Given the description of an element on the screen output the (x, y) to click on. 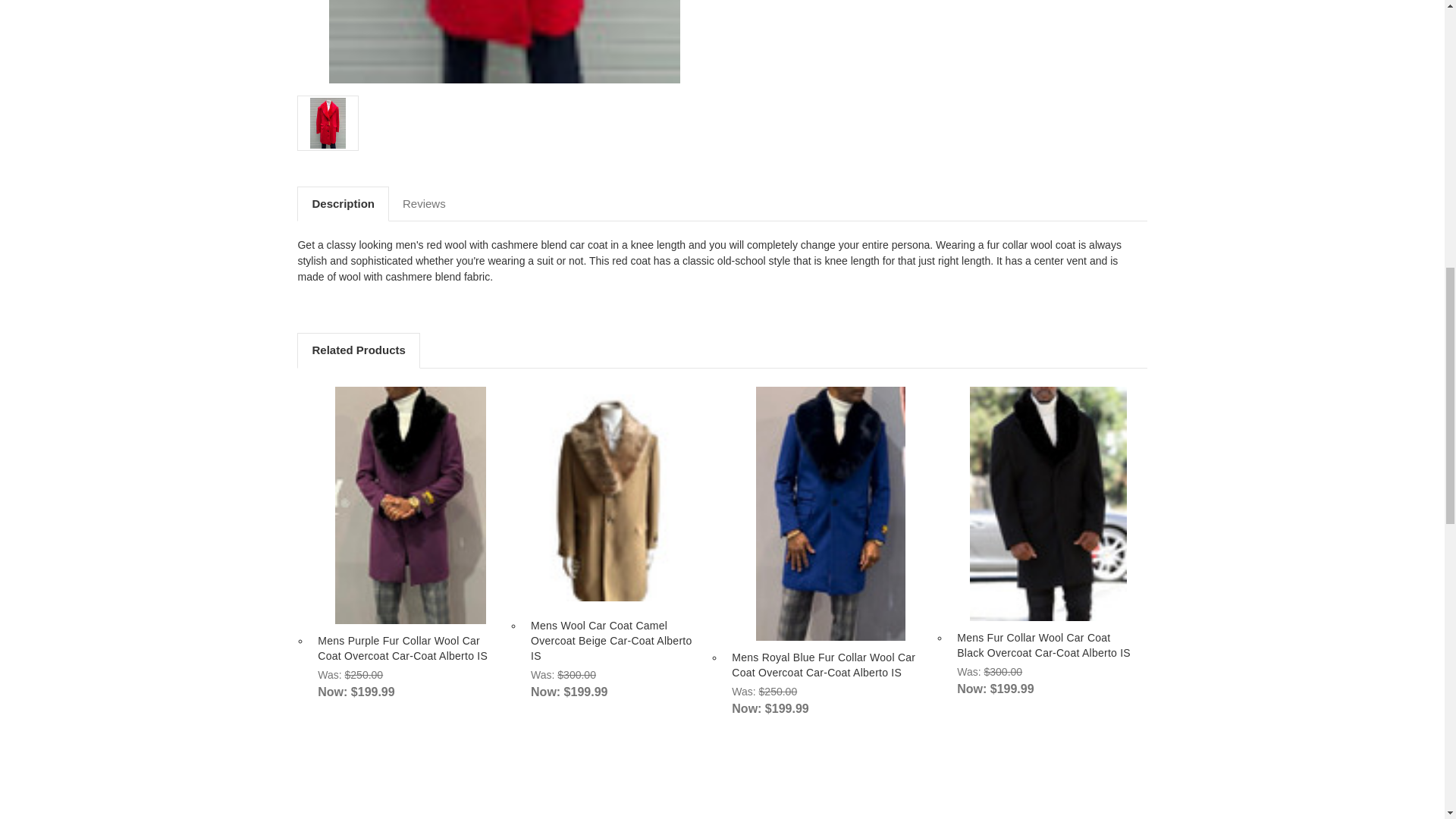
Pinterest (845, 6)
Print (793, 6)
Twitter (819, 6)
Email (766, 6)
Facebook (740, 6)
